Given the description of an element on the screen output the (x, y) to click on. 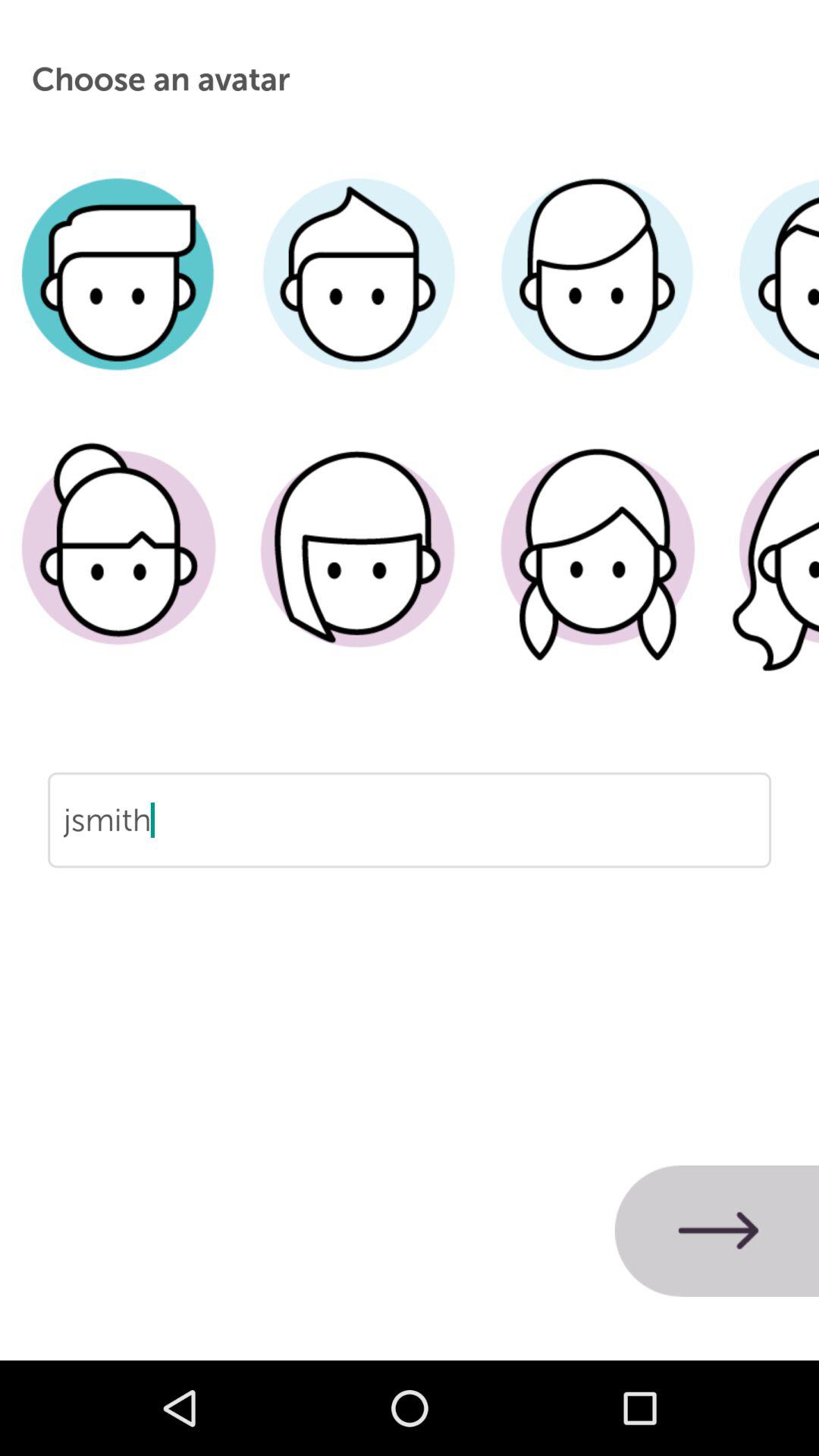
male avatar with short parted hair (119, 296)
